Given the description of an element on the screen output the (x, y) to click on. 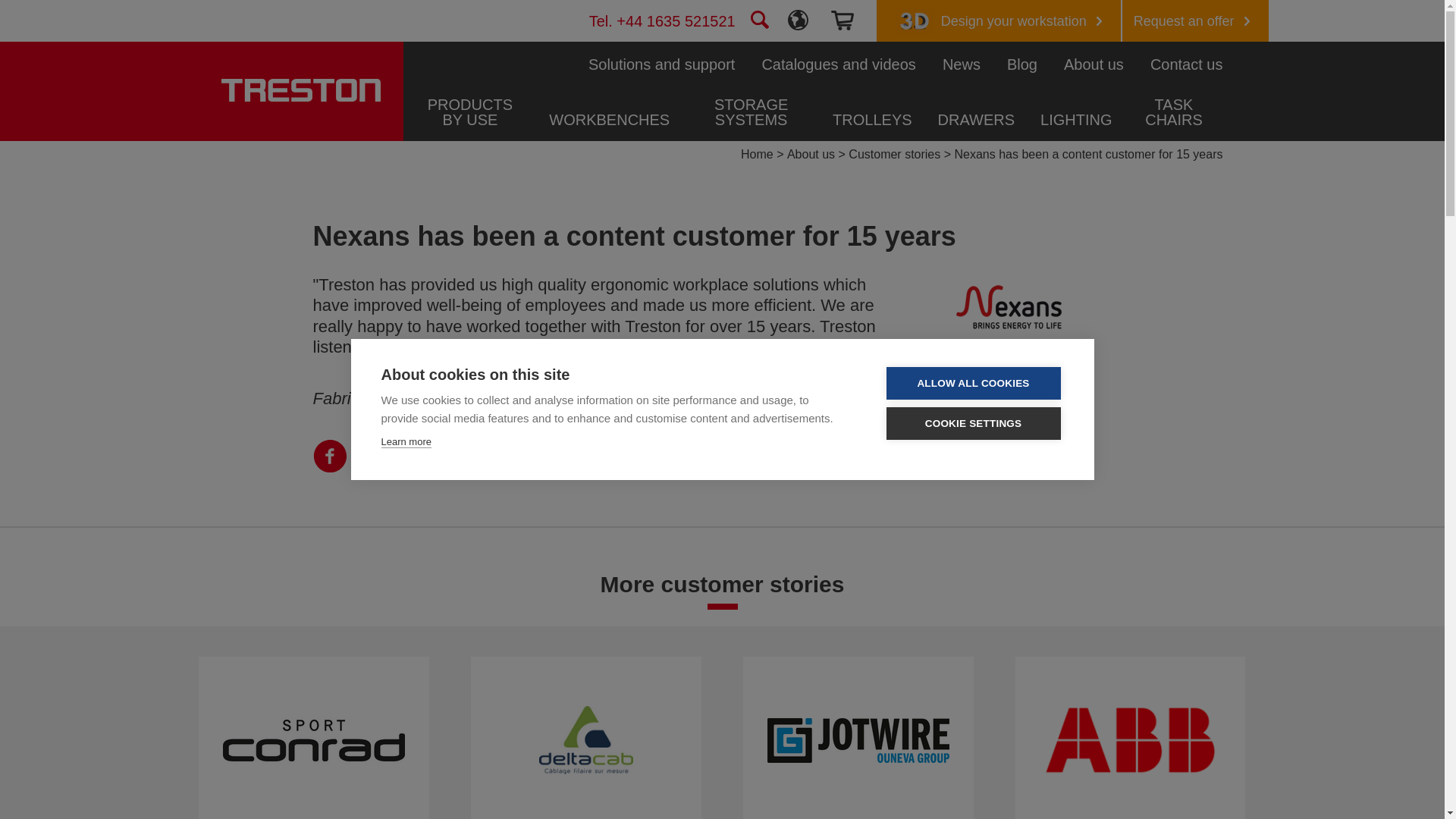
Deltacab logo (585, 739)
Request an offer (1195, 20)
Blog (1021, 64)
Sport Conrad - Customer Story (313, 740)
Contact us (1186, 64)
Design your workstation (998, 20)
About us (1094, 64)
News (960, 64)
Catalogues and videos (838, 64)
Solutions and support (661, 64)
